Given the description of an element on the screen output the (x, y) to click on. 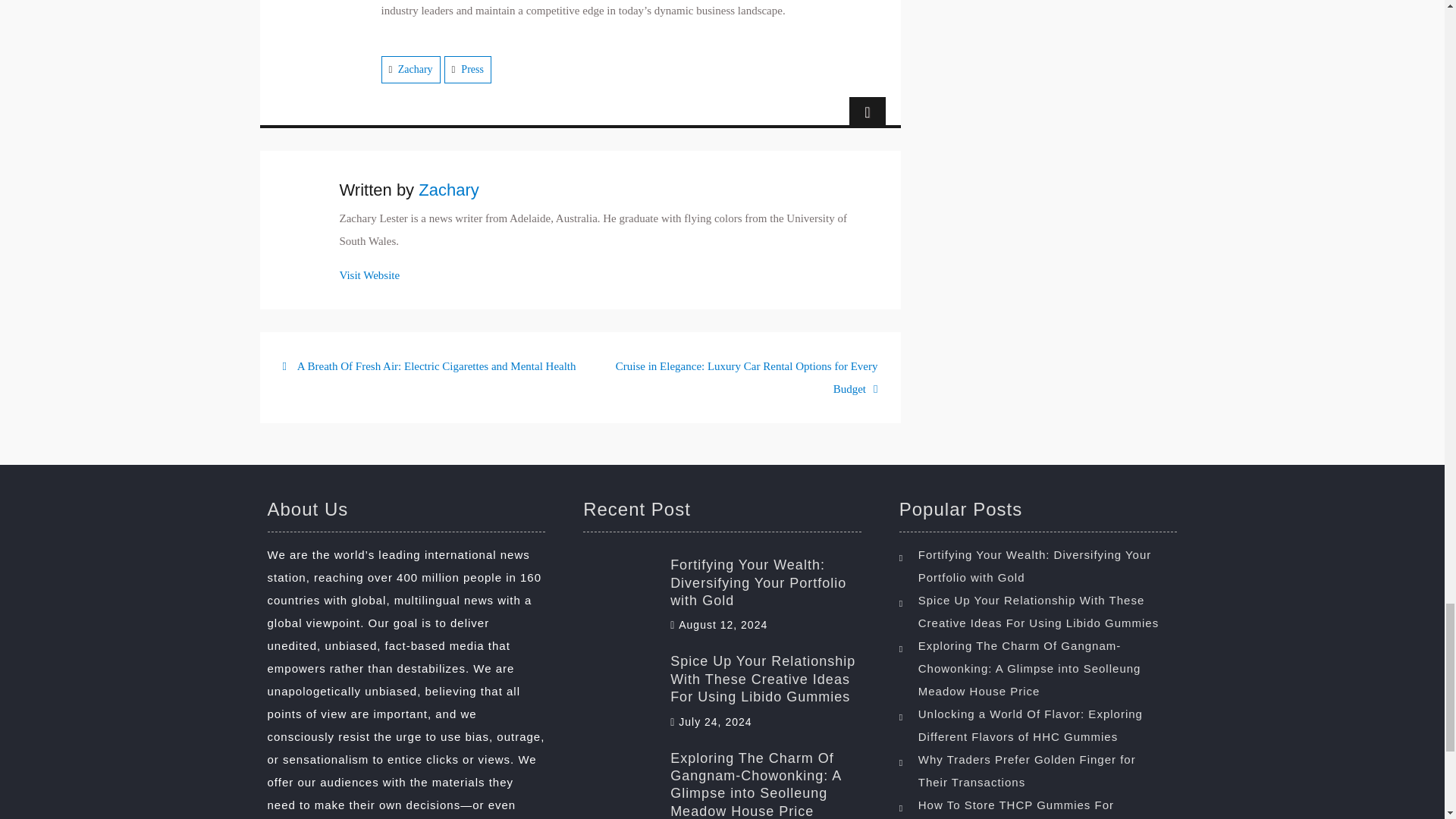
Zachary (449, 189)
Zachary (414, 69)
Press (472, 69)
Posts by Zachary (449, 189)
Visit Website (369, 275)
